Given the description of an element on the screen output the (x, y) to click on. 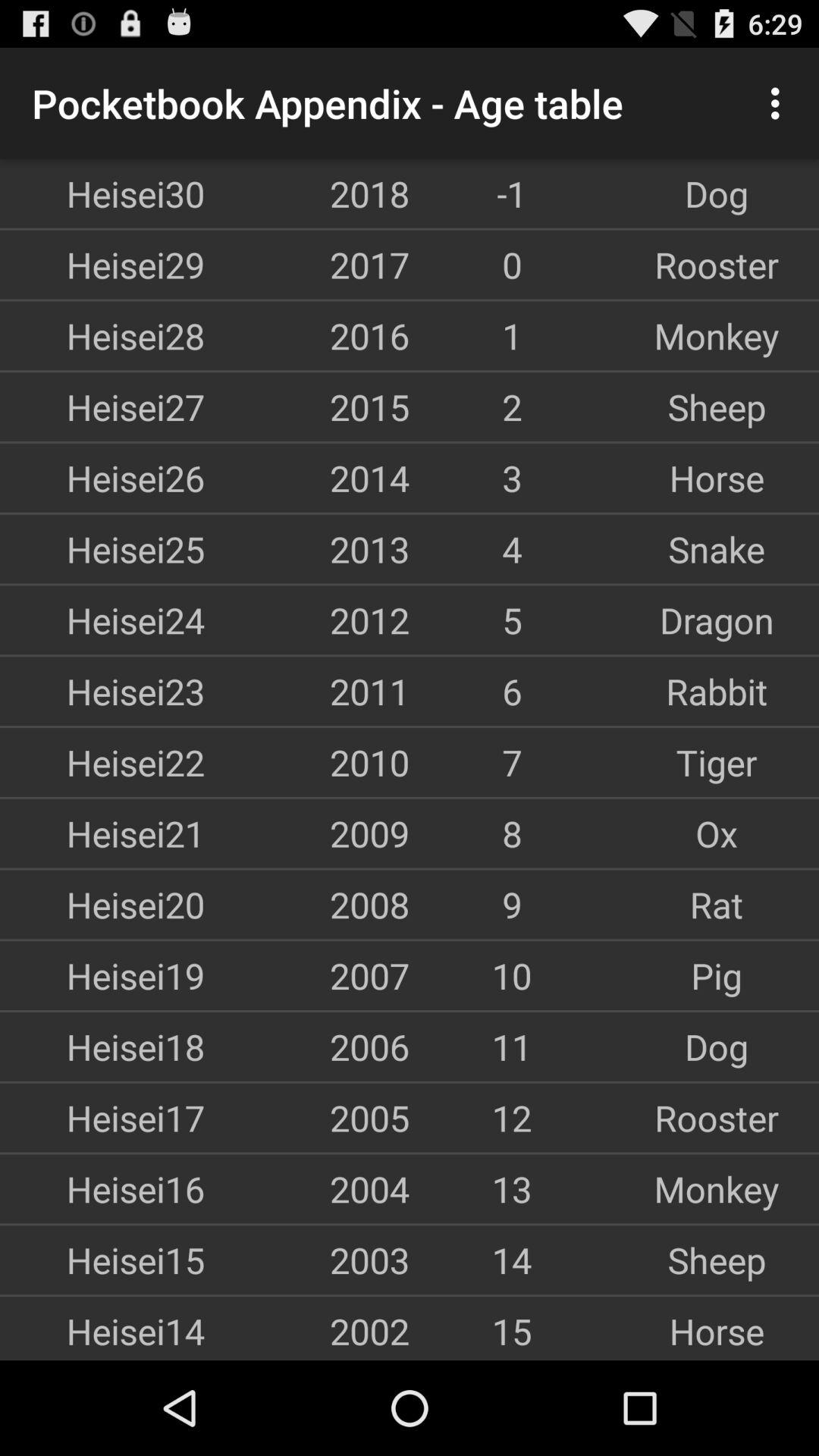
launch item to the left of 2015 (102, 406)
